Given the description of an element on the screen output the (x, y) to click on. 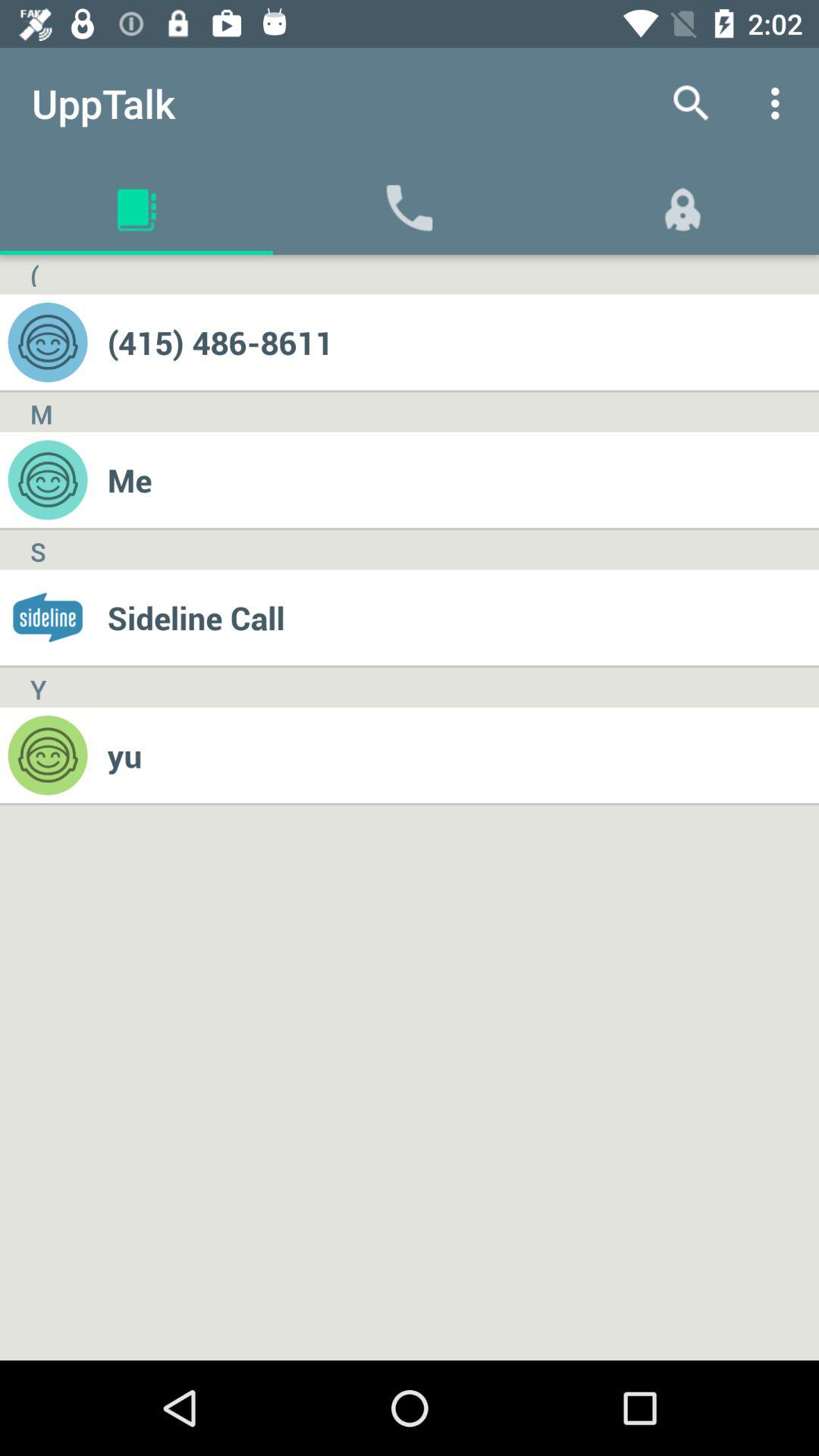
select the icon above the (415) 486-8611 (779, 103)
